Given the description of an element on the screen output the (x, y) to click on. 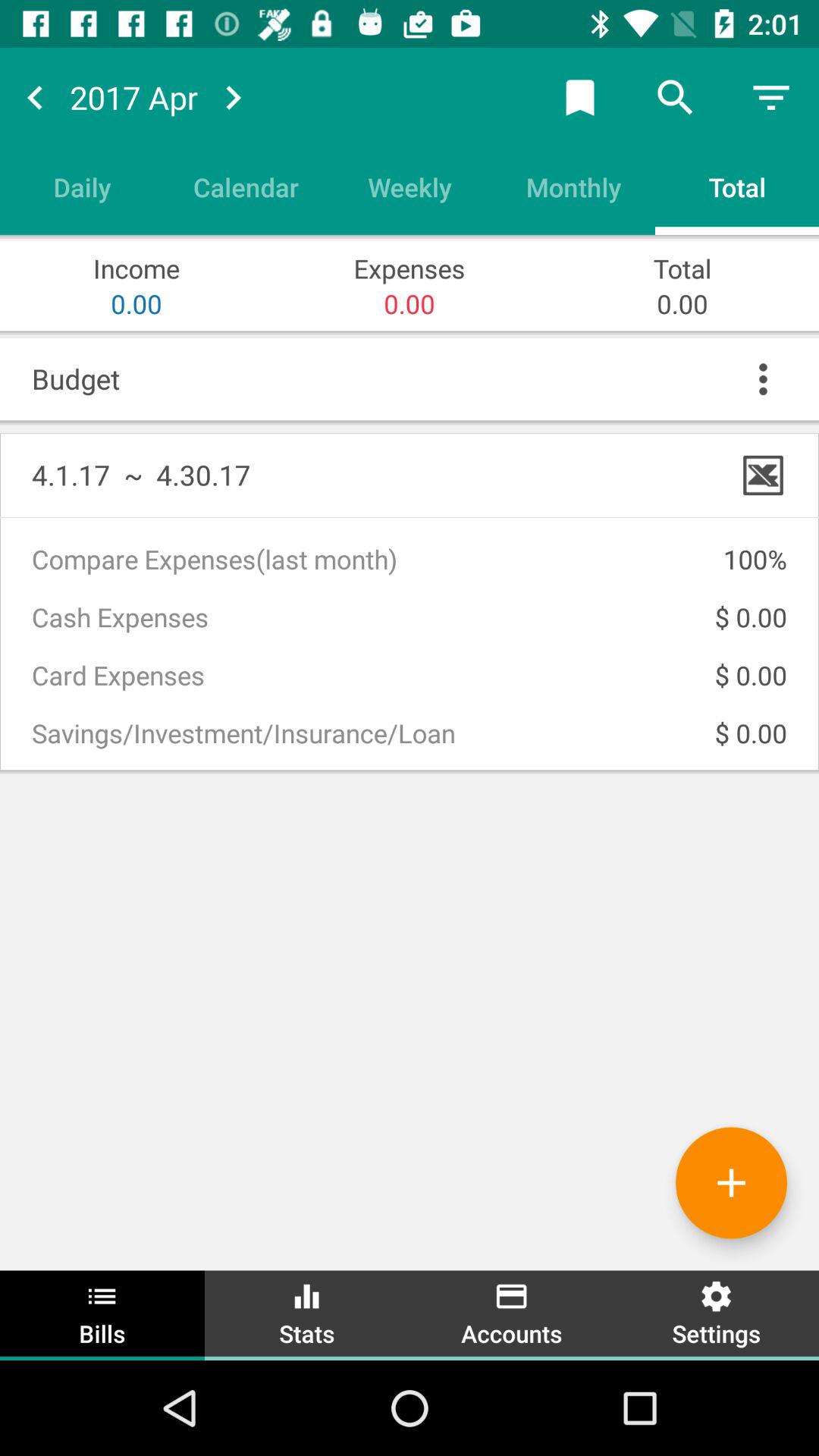
go to next month (232, 97)
